Given the description of an element on the screen output the (x, y) to click on. 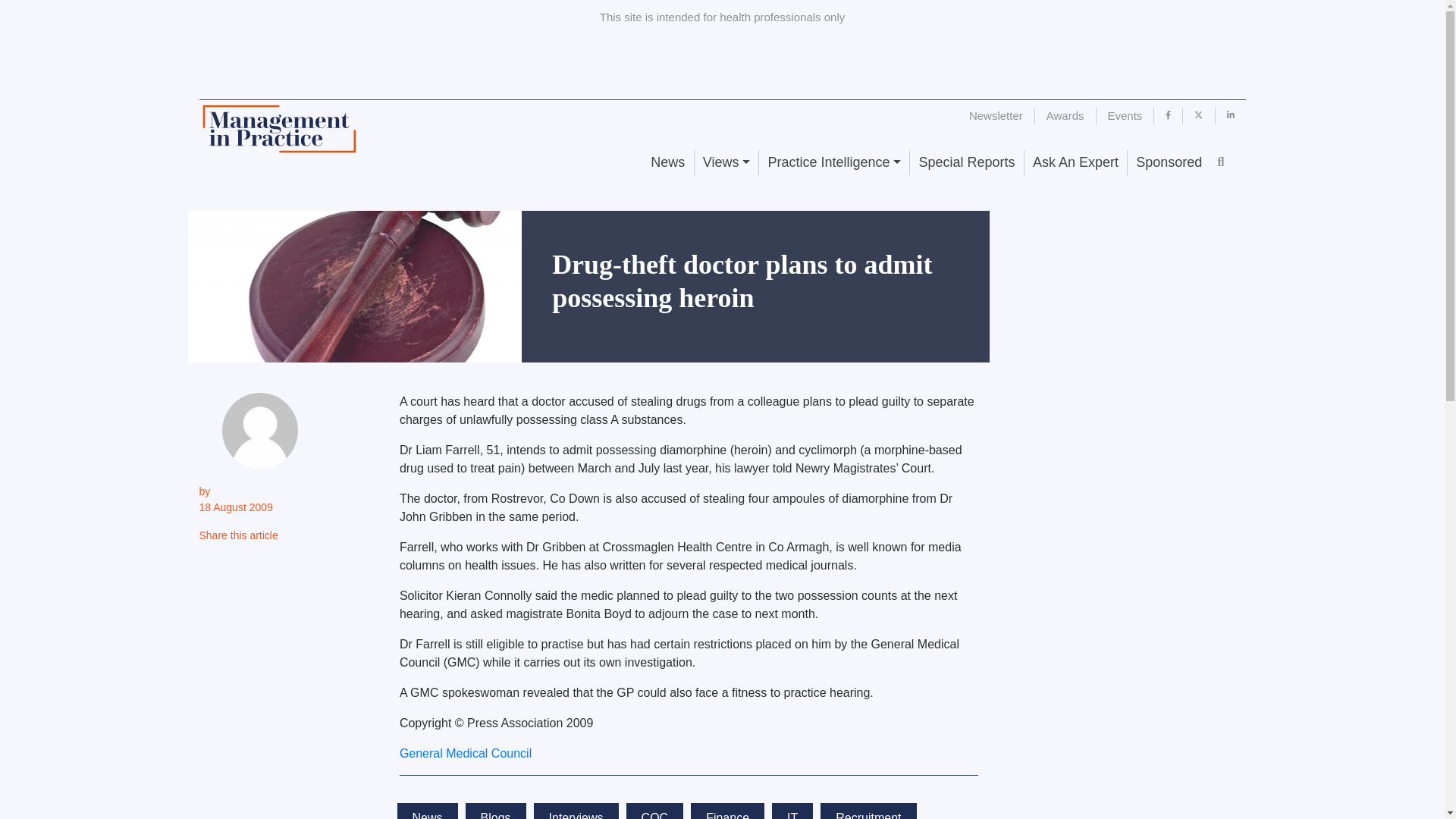
Practice Intelligence (833, 162)
News (667, 162)
Special Reports (966, 162)
Sponsored (1167, 162)
Awards (1065, 115)
Newsletter (996, 115)
Events (1125, 115)
Views (726, 162)
Ask An Expert (1075, 162)
